Given the description of an element on the screen output the (x, y) to click on. 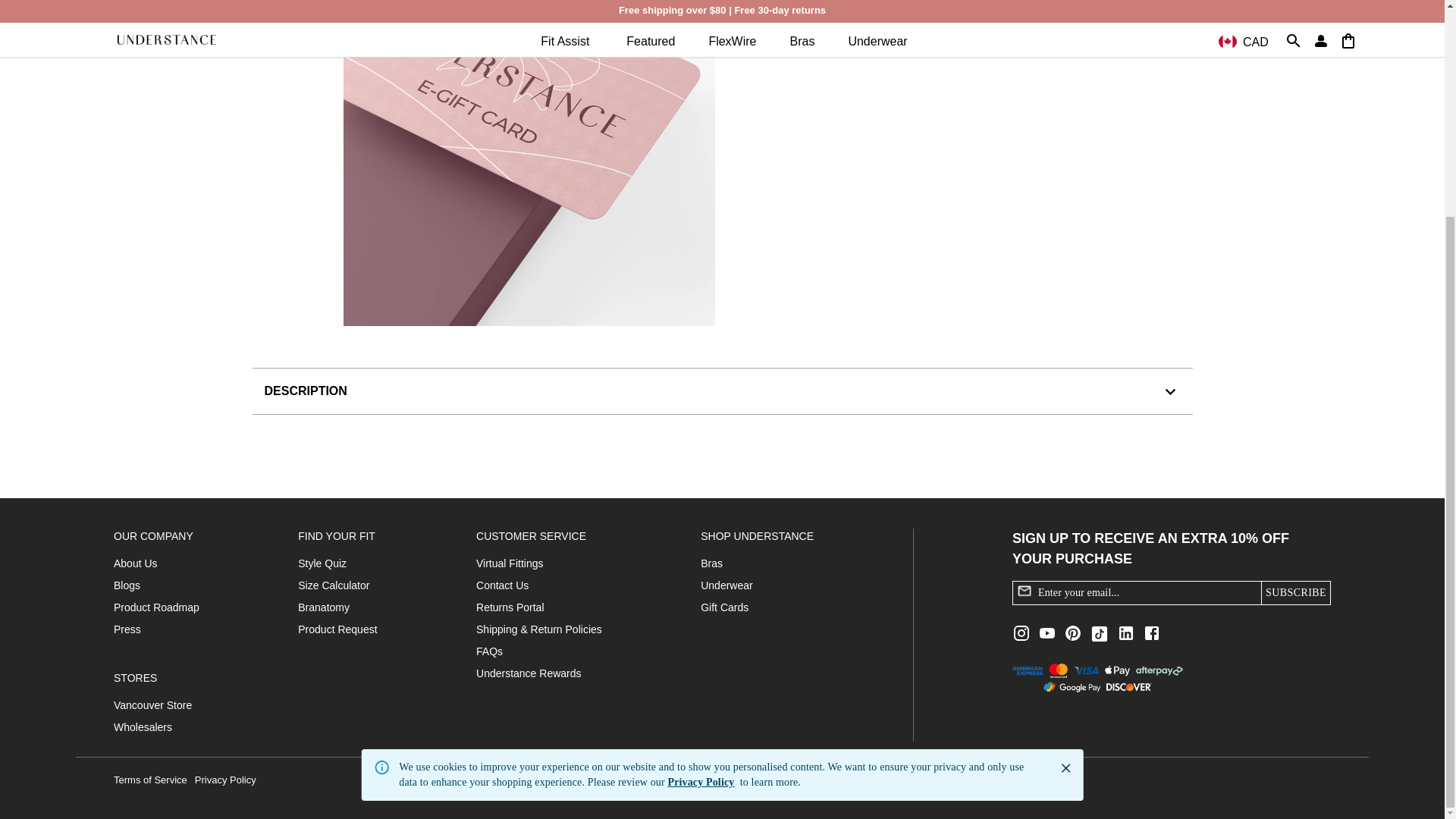
Close (1065, 483)
Style Quiz (322, 563)
Blogs (126, 585)
Virtual Fittings (509, 563)
About Us (135, 563)
Wholesalers (142, 727)
Vancouver Store (152, 705)
SUBSCRIBE (1295, 592)
Size Calculator (333, 585)
Understance on LinkedIn (1125, 632)
